Given the description of an element on the screen output the (x, y) to click on. 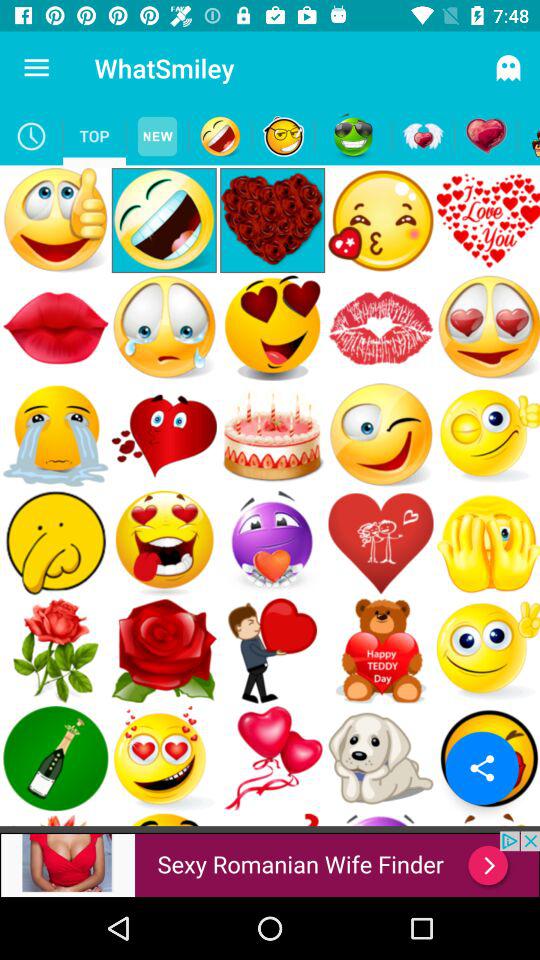
input smiley (220, 136)
